Given the description of an element on the screen output the (x, y) to click on. 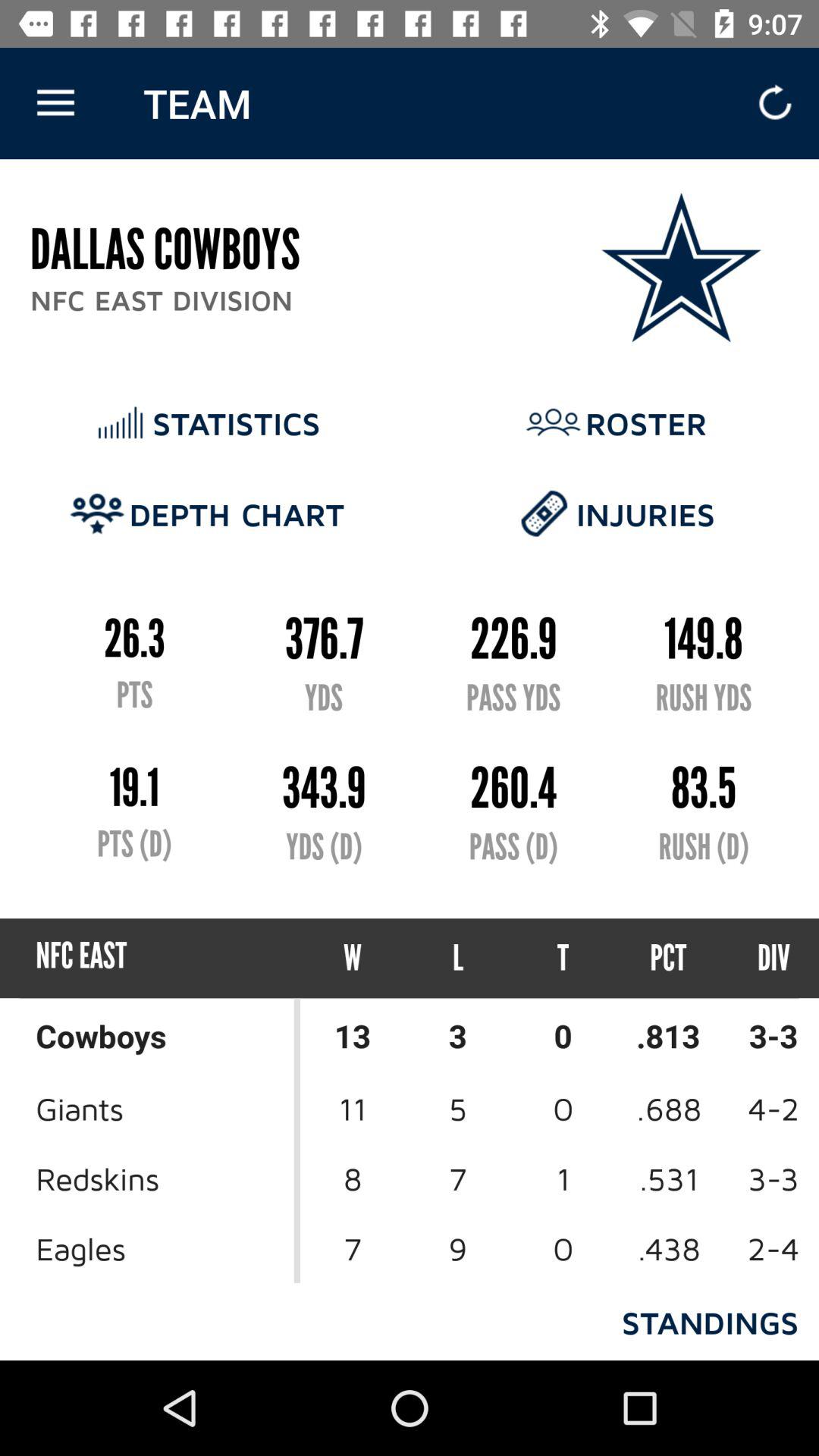
flip until w item (352, 958)
